Given the description of an element on the screen output the (x, y) to click on. 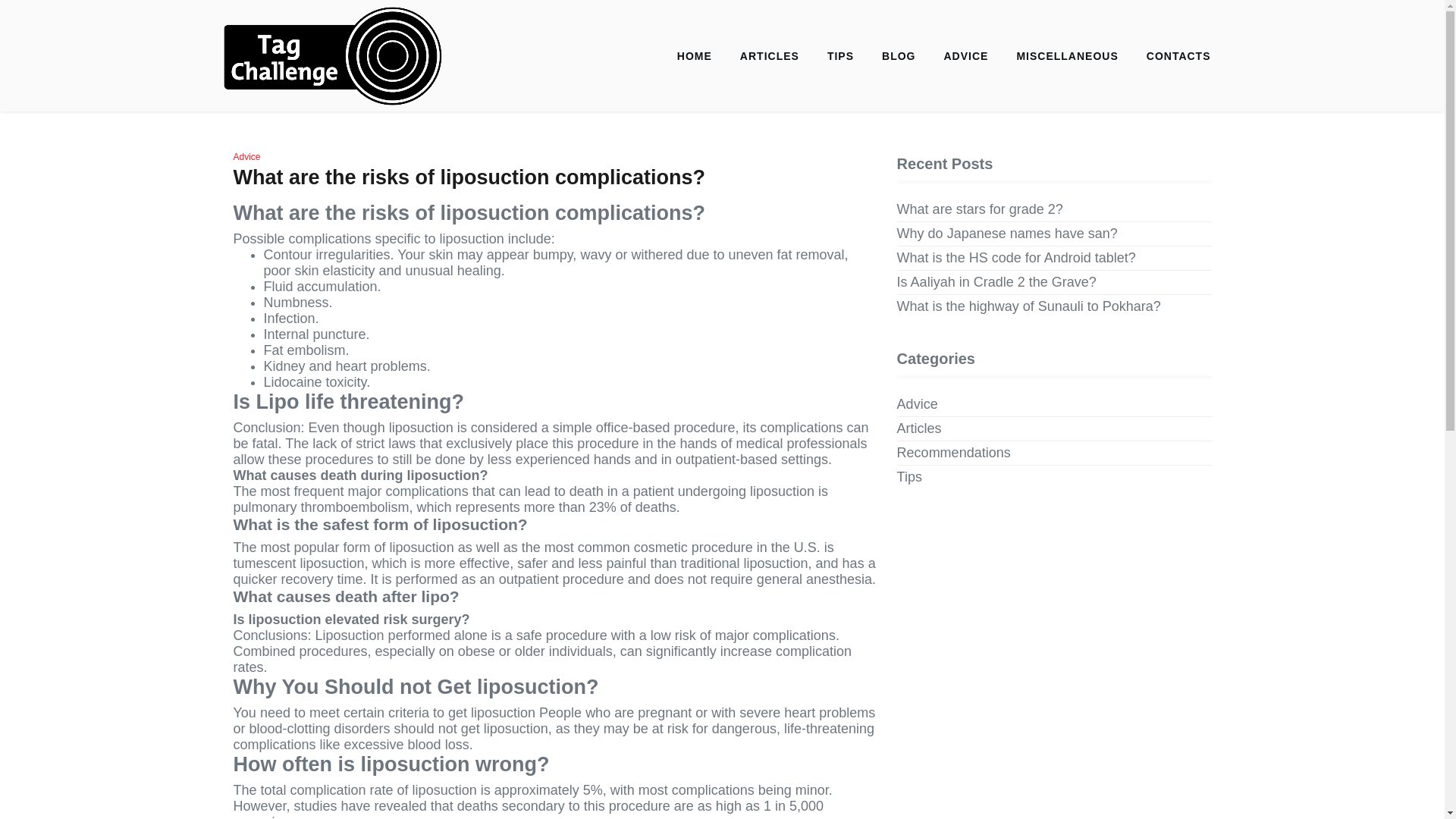
Advice (916, 404)
Why do Japanese names have san? (1007, 233)
What are stars for grade 2? (979, 209)
CONTACTS (1178, 55)
Is Aaliyah in Cradle 2 the Grave? (996, 282)
Recommendations (953, 453)
Advice (246, 156)
Tips (908, 477)
What is the HS code for Android tablet? (1015, 258)
HOME (694, 55)
MISCELLANEOUS (1066, 55)
Articles (919, 428)
What is the highway of Sunauli to Pokhara? (1028, 306)
TIPS (840, 55)
ARTICLES (769, 55)
